Given the description of an element on the screen output the (x, y) to click on. 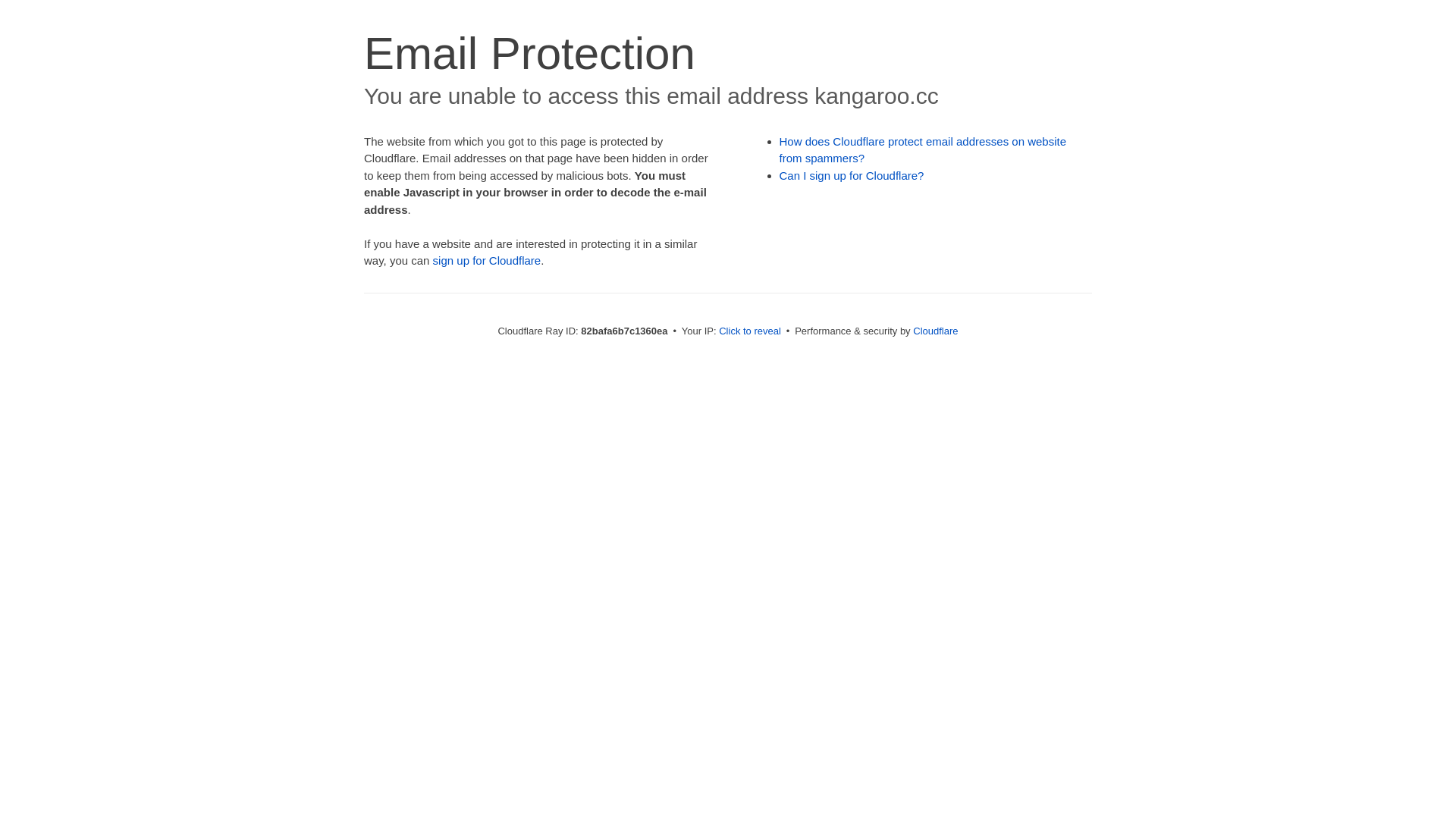
Click to reveal Element type: text (749, 330)
Cloudflare Element type: text (935, 330)
Can I sign up for Cloudflare? Element type: text (851, 175)
sign up for Cloudflare Element type: text (487, 260)
